Given the description of an element on the screen output the (x, y) to click on. 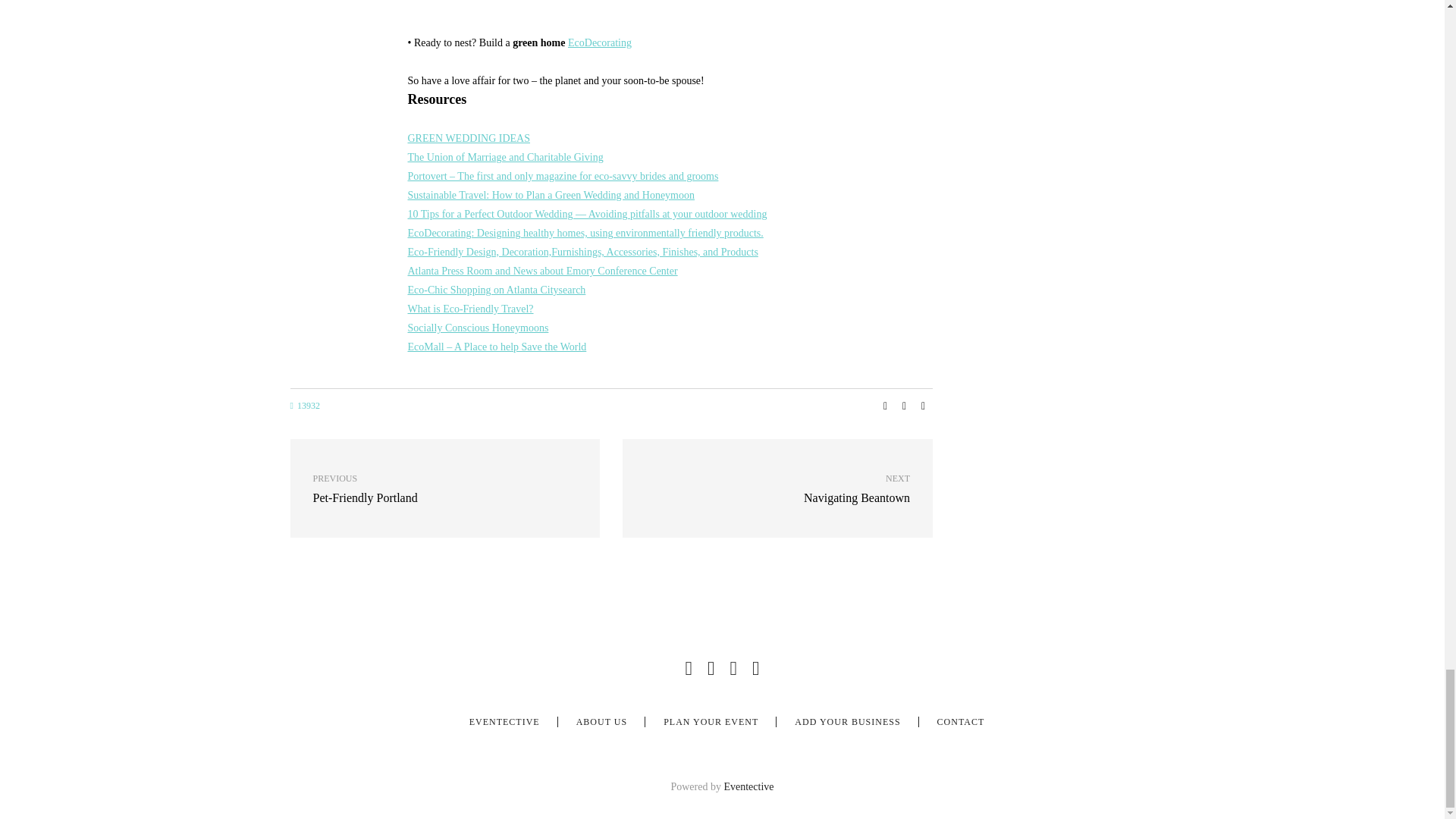
Share this (885, 406)
Tweet this (904, 406)
Pin this (923, 406)
